Given the description of an element on the screen output the (x, y) to click on. 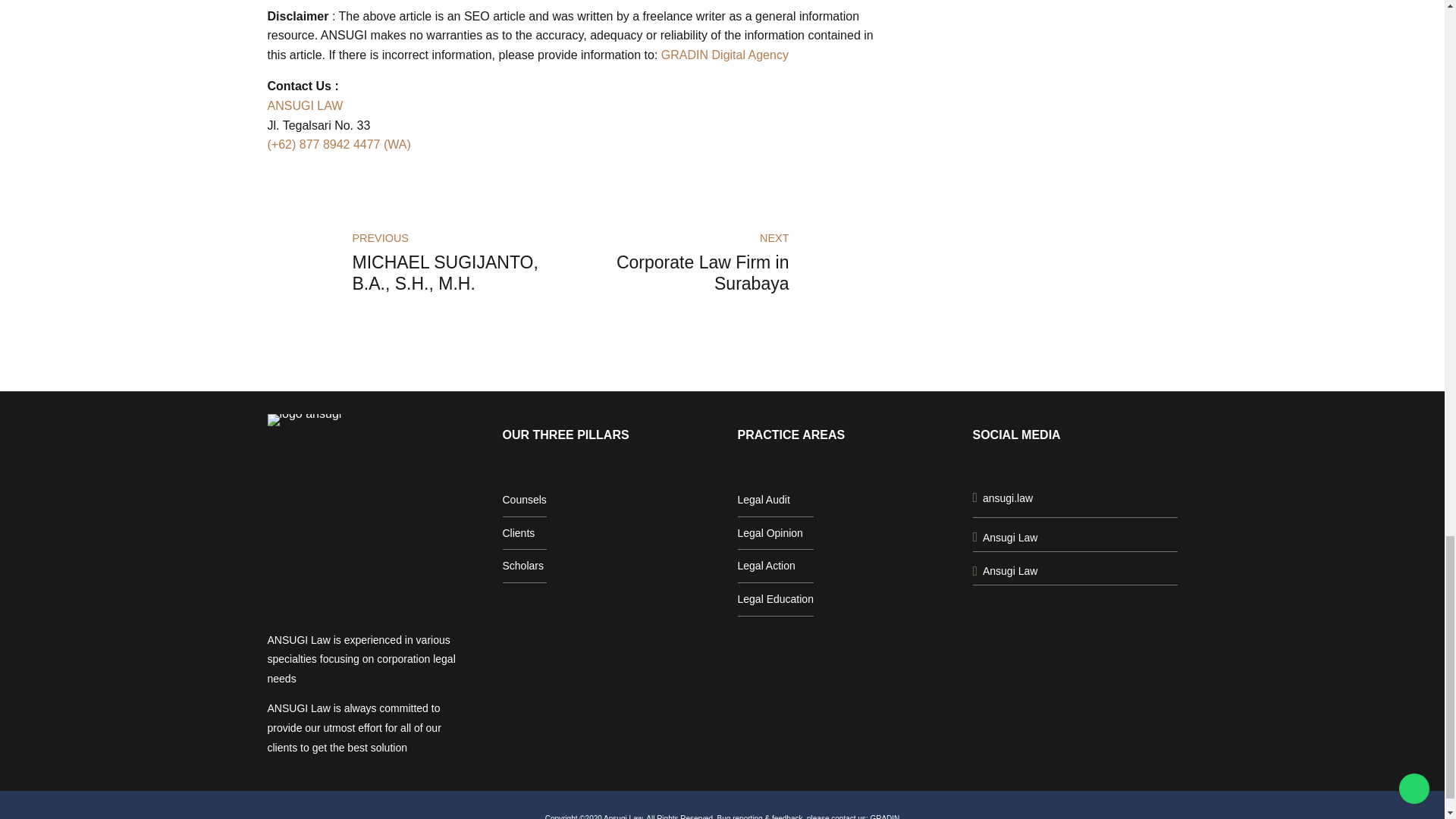
Ansugi Law (1004, 571)
Legal Opinion (769, 532)
ansugi.law (1002, 497)
ANSUGI LAW (304, 105)
Scholars (522, 565)
Counsels (524, 499)
Ansugi Law (1004, 571)
Ansugi Law (1004, 537)
Legal Action (765, 565)
GRADIN Digital Agency (725, 54)
GRADIN (884, 816)
Ansugi Law (721, 263)
Clients (1004, 537)
Legal Audit (518, 532)
